Given the description of an element on the screen output the (x, y) to click on. 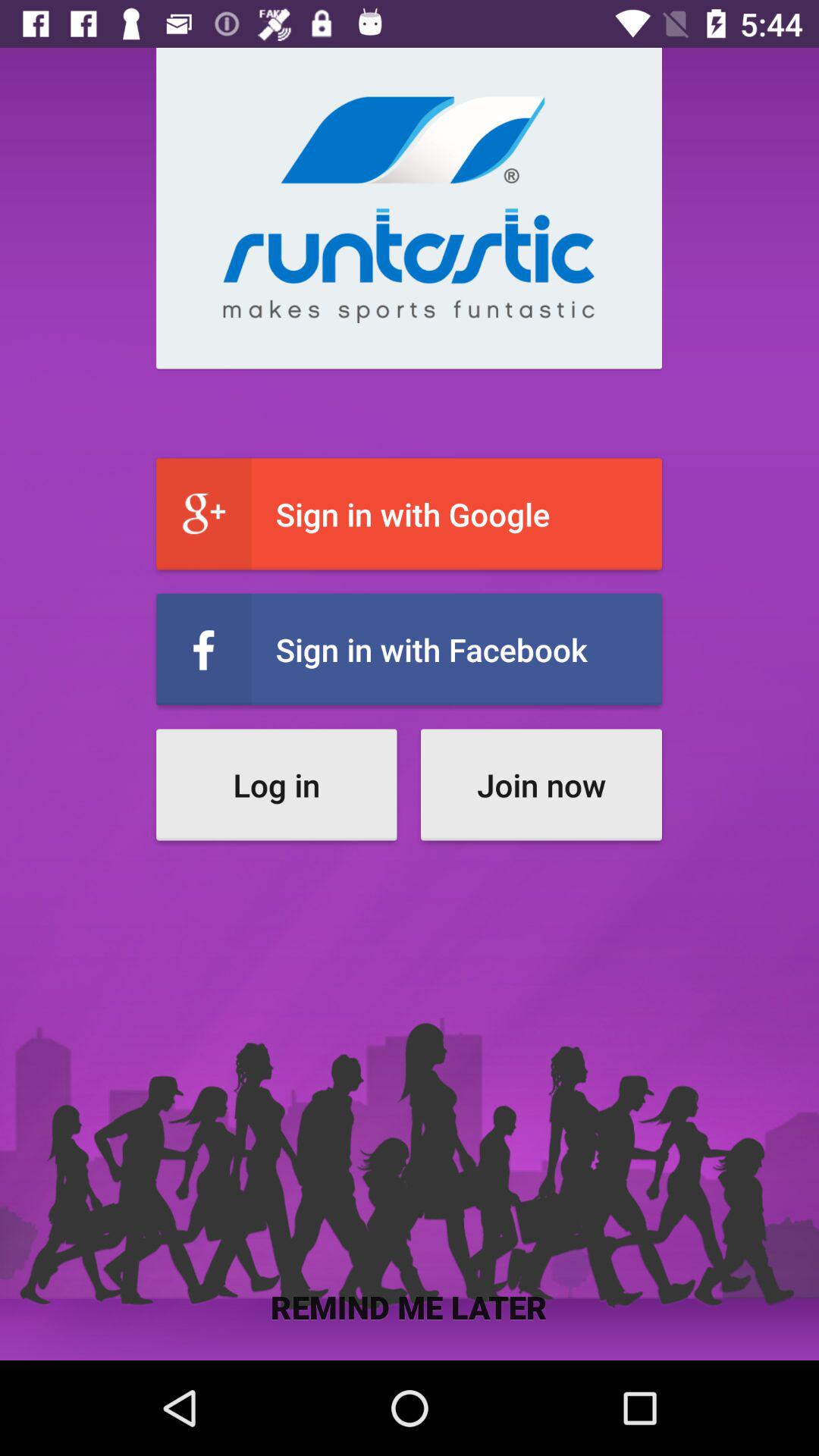
tap remind me later button (409, 1306)
